Given the description of an element on the screen output the (x, y) to click on. 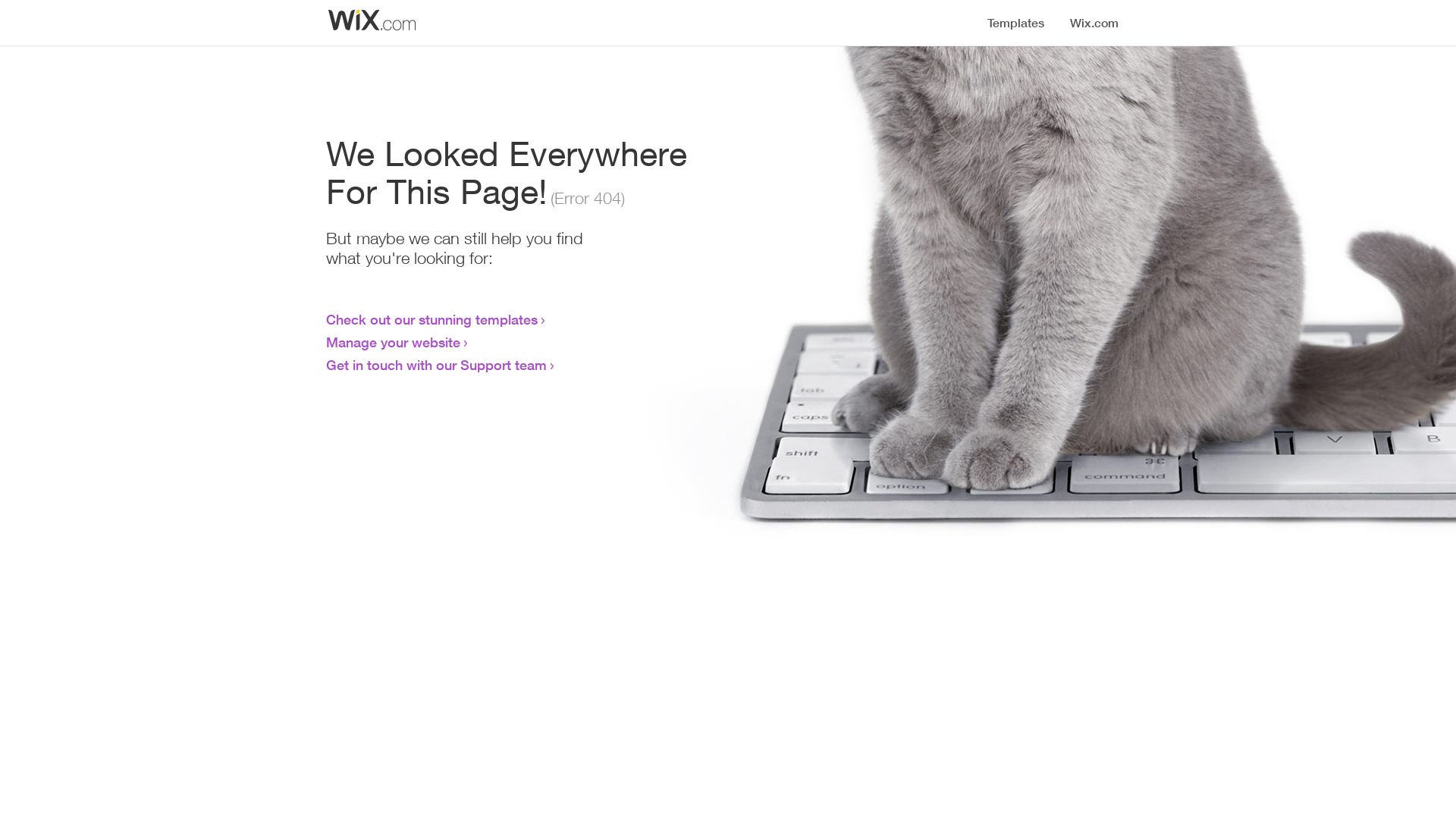
Manage your website Element type: text (393, 341)
Check out our stunning templates Element type: text (431, 318)
Get in touch with our Support team Element type: text (436, 364)
